Given the description of an element on the screen output the (x, y) to click on. 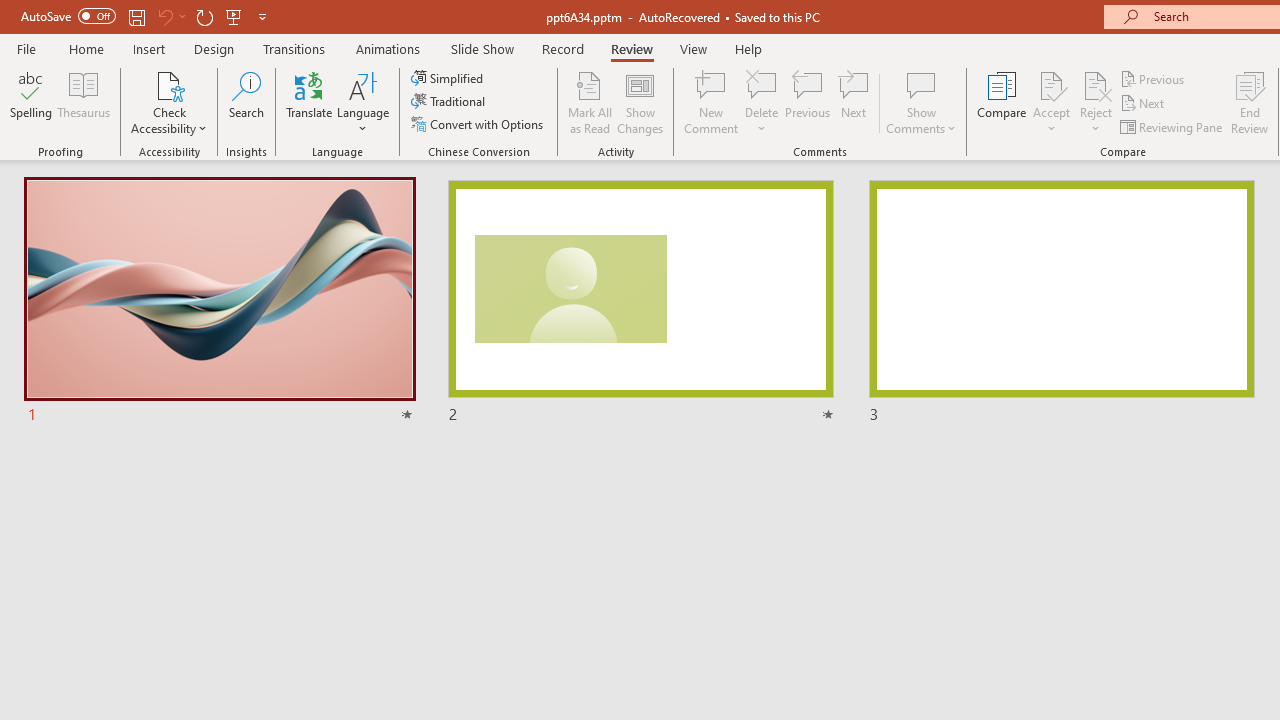
From Beginning (234, 15)
New Comment (711, 102)
Spelling... (31, 102)
Design (214, 48)
Save (136, 15)
Thesaurus... (83, 102)
Compare (1002, 102)
File Tab (26, 48)
Reject Change (1096, 84)
Traditional (449, 101)
Insert (149, 48)
Animations (388, 48)
